Given the description of an element on the screen output the (x, y) to click on. 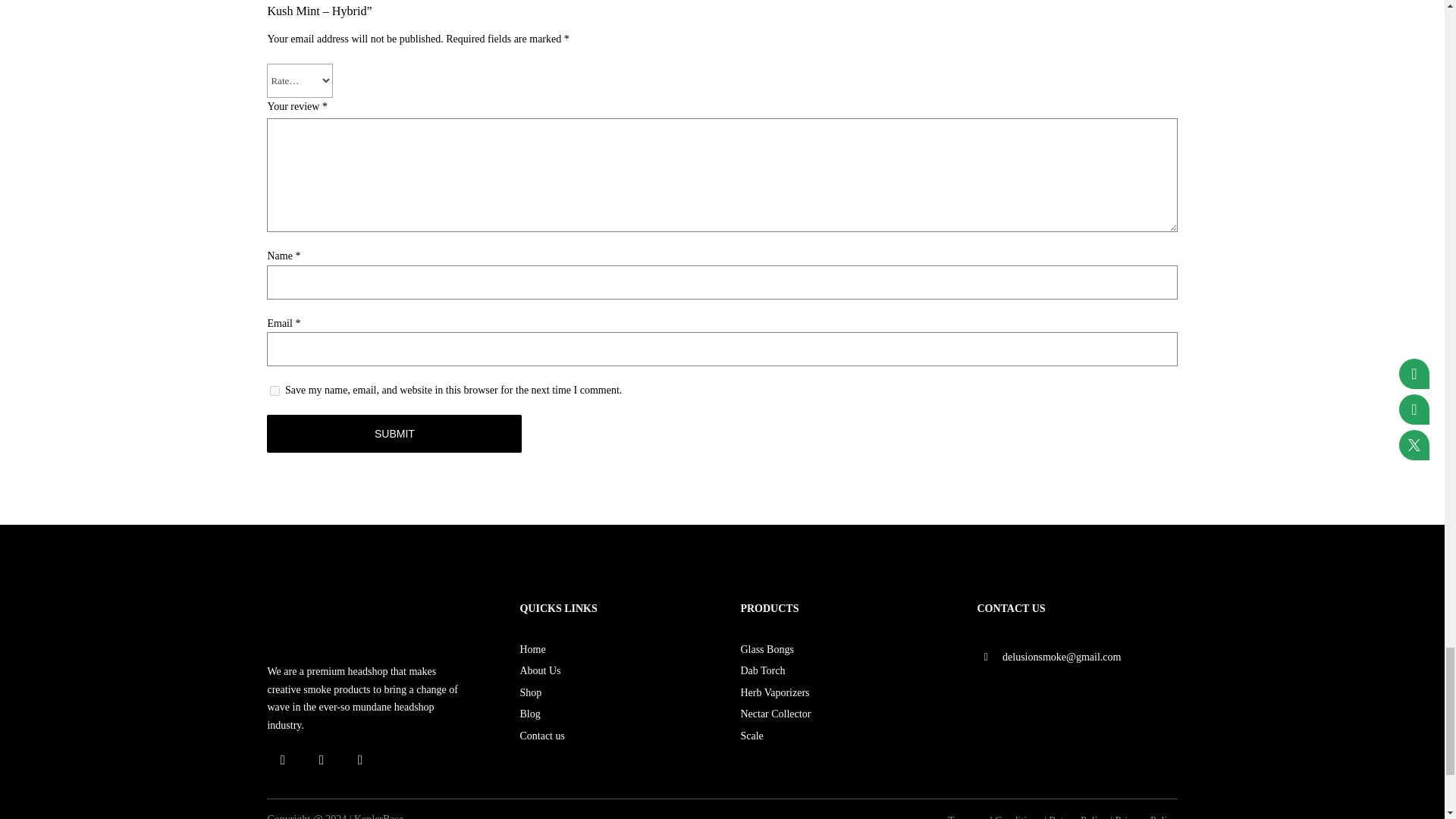
Instagram (359, 759)
X (320, 759)
payment cards (1076, 701)
Facebook (282, 759)
Submit (393, 433)
yes (274, 390)
